Given the description of an element on the screen output the (x, y) to click on. 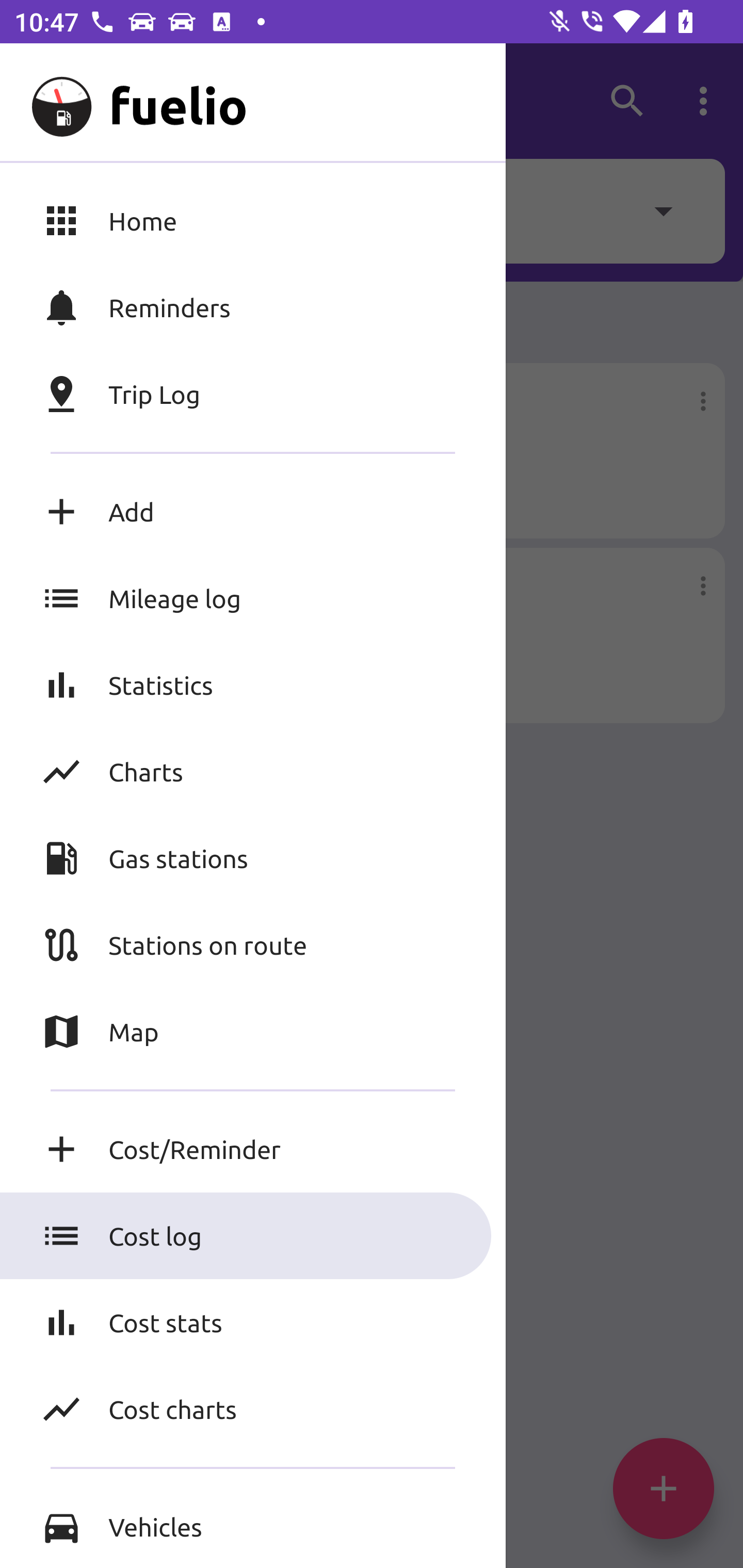
Fuelio (50, 101)
Home (252, 220)
Reminders (252, 307)
Trip Log (252, 394)
Add (252, 511)
Mileage log (252, 598)
Statistics (252, 684)
Charts (252, 771)
Gas stations (252, 858)
Stations on route (252, 944)
Map (252, 1031)
Cost/Reminder (252, 1149)
Cost log (252, 1236)
Cost stats (252, 1322)
Cost charts (252, 1408)
Vehicles (252, 1525)
